Given the description of an element on the screen output the (x, y) to click on. 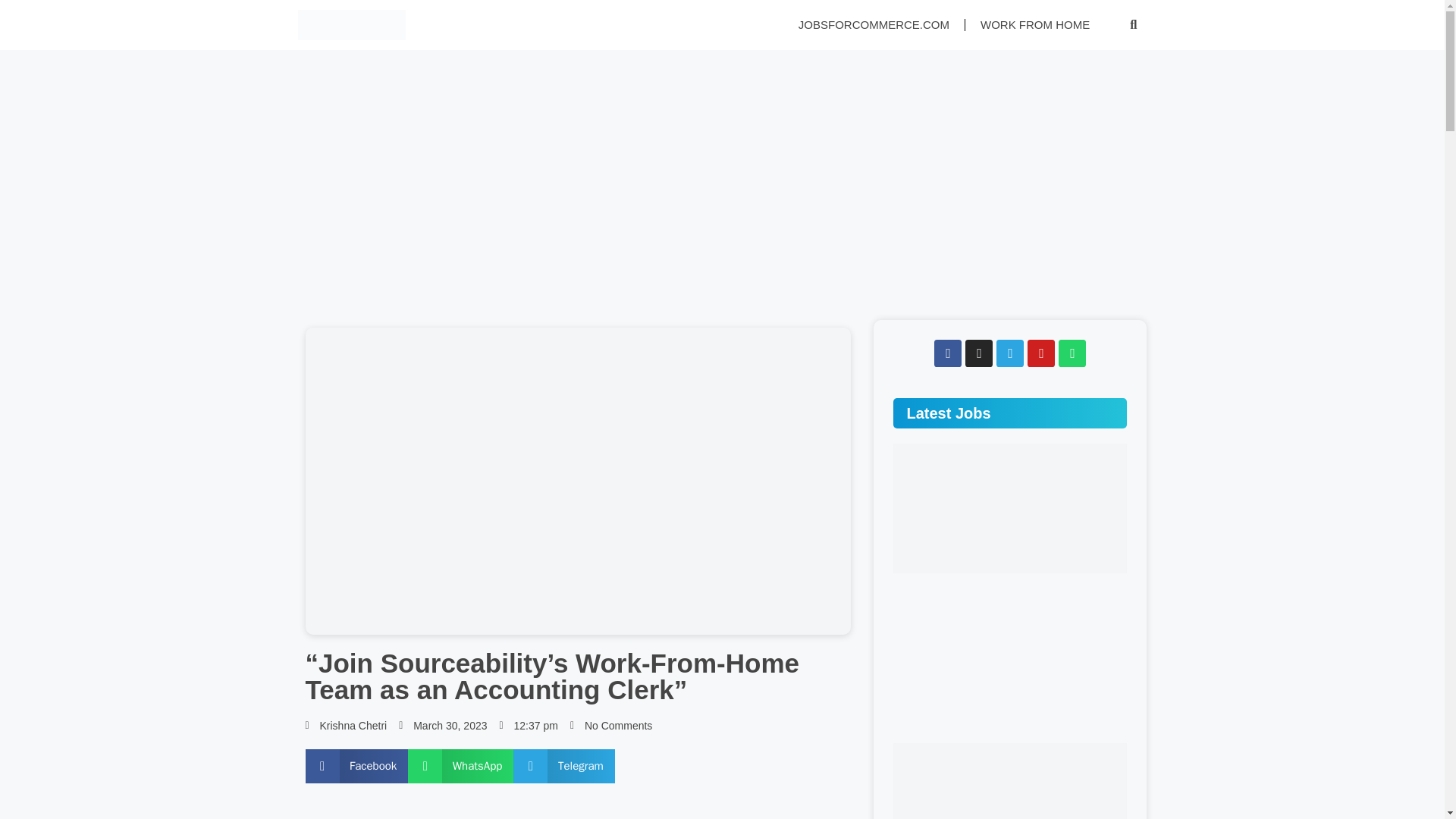
Krishna Chetri (345, 725)
No Comments (611, 725)
Advertisement (577, 811)
March 30, 2023 (442, 725)
WORK FROM HOME (1035, 24)
JOBSFORCOMMERCE.COM (873, 24)
